Given the description of an element on the screen output the (x, y) to click on. 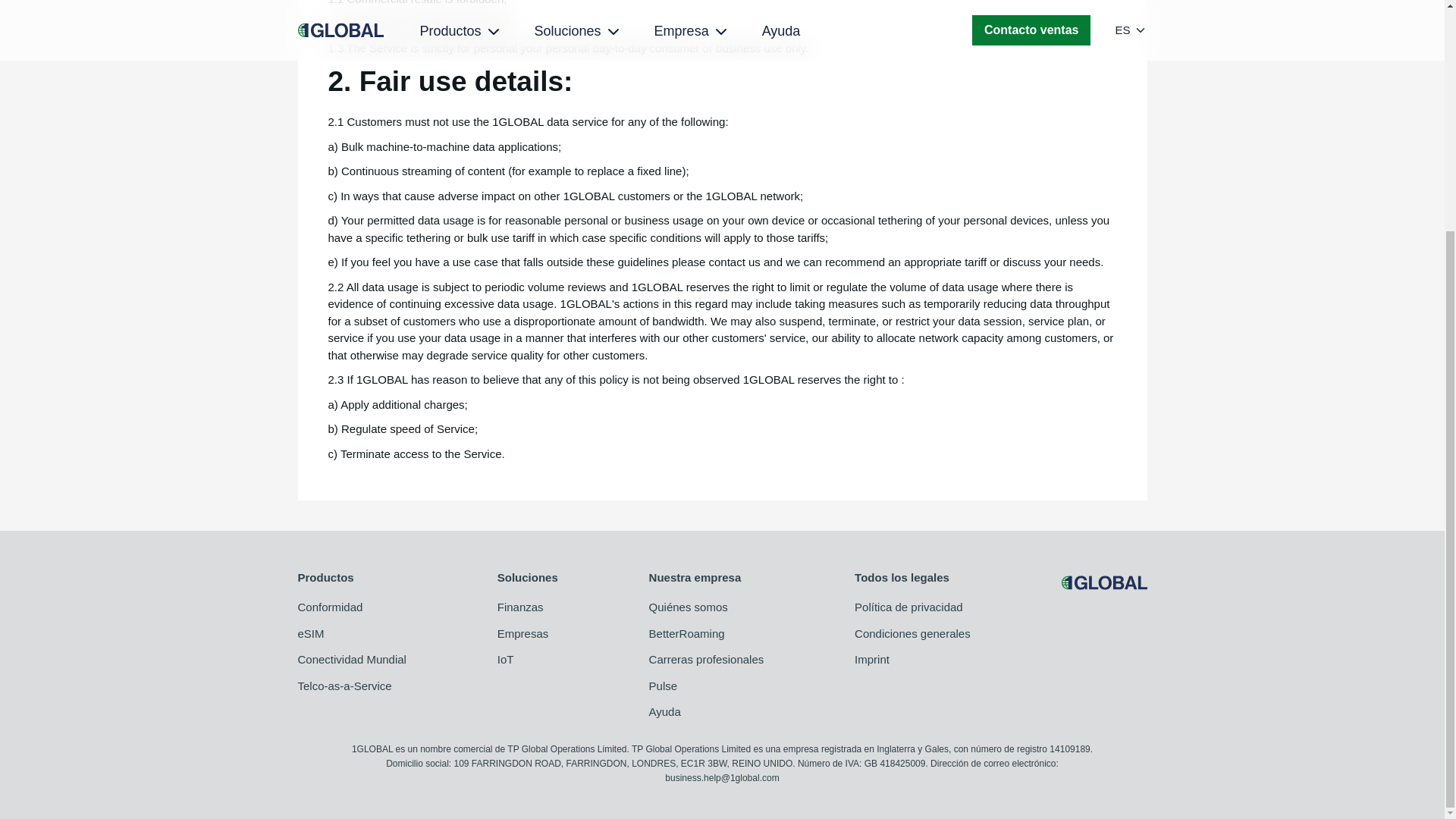
IoT (527, 660)
Empresas (527, 633)
Conectividad Mundial (351, 660)
Todos los legales (912, 577)
Soluciones (527, 577)
Carreras profesionales (706, 660)
Ayuda (706, 712)
Pulse (706, 686)
Telco-as-a-Service (351, 686)
Productos (351, 577)
eSIM (351, 633)
Conformidad (351, 607)
Condiciones generales (912, 633)
BetterRoaming (706, 633)
Imprint (912, 660)
